Given the description of an element on the screen output the (x, y) to click on. 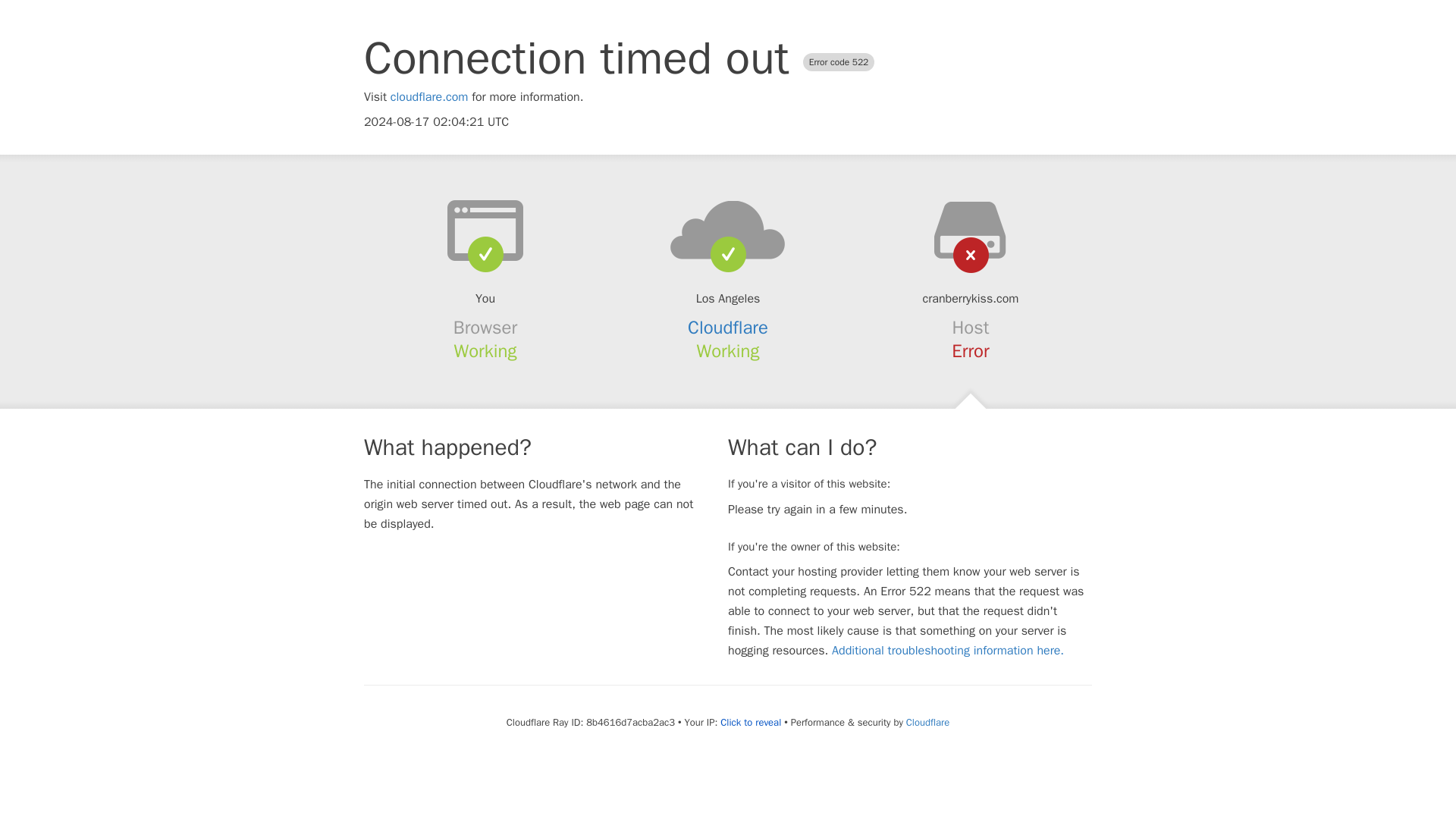
Click to reveal (750, 722)
Cloudflare (727, 327)
Additional troubleshooting information here. (947, 650)
Cloudflare (927, 721)
cloudflare.com (429, 96)
